Given the description of an element on the screen output the (x, y) to click on. 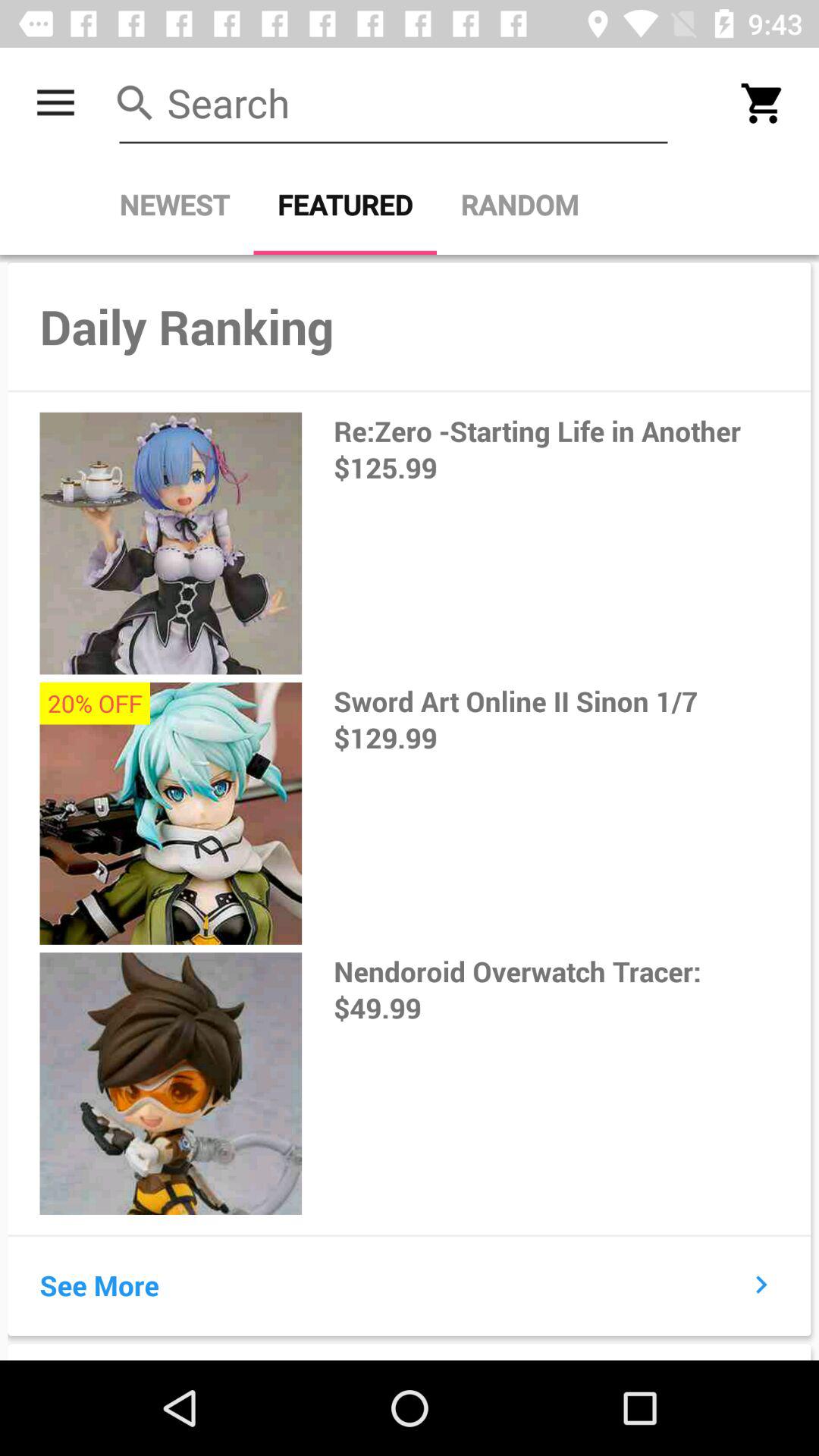
launch item to the right of the newest item (344, 204)
